Given the description of an element on the screen output the (x, y) to click on. 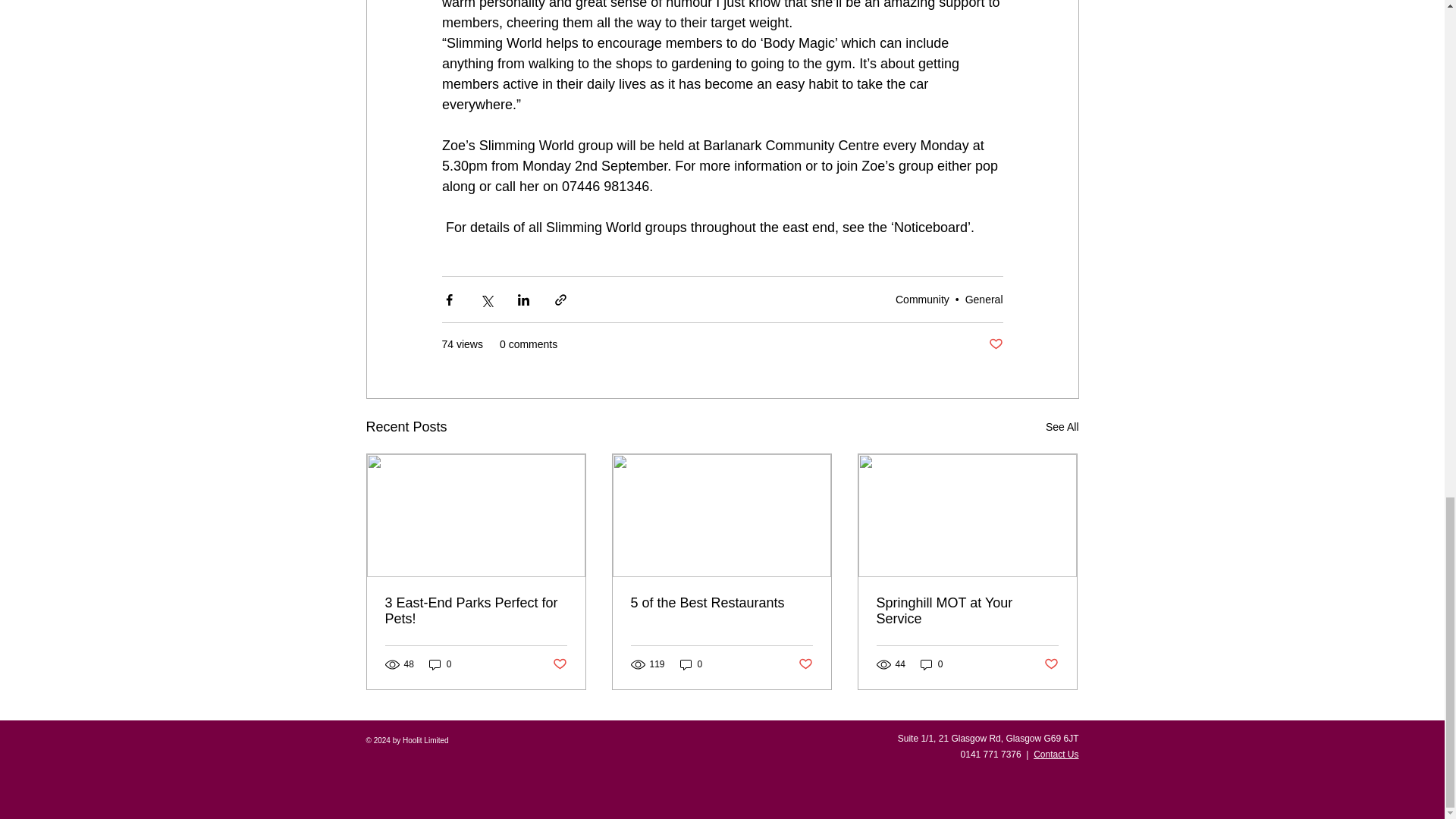
0 (691, 664)
See All (1061, 427)
3 East-End Parks Perfect for Pets! (476, 611)
Post not marked as liked (995, 344)
0 (440, 664)
Post not marked as liked (558, 663)
5 of the Best Restaurants (721, 602)
Community (922, 299)
0 (931, 664)
Contact Us (1055, 754)
